Given the description of an element on the screen output the (x, y) to click on. 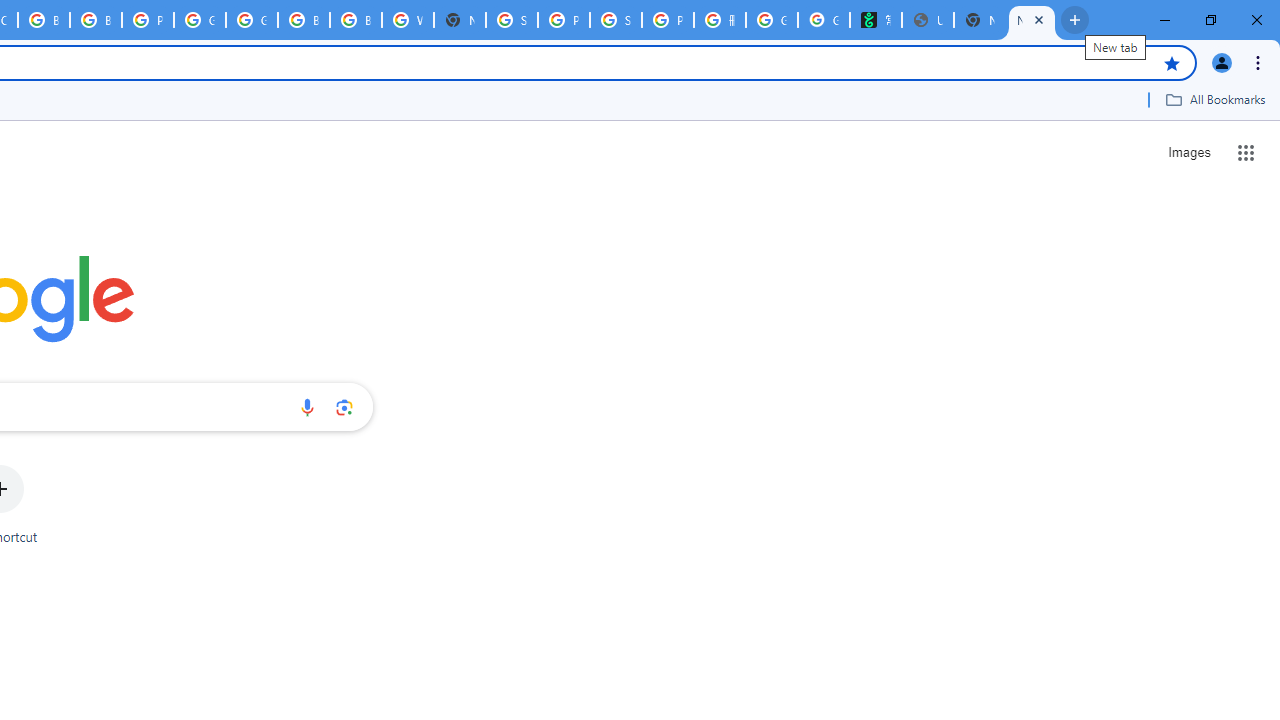
Sign in - Google Accounts (511, 20)
